Given the description of an element on the screen output the (x, y) to click on. 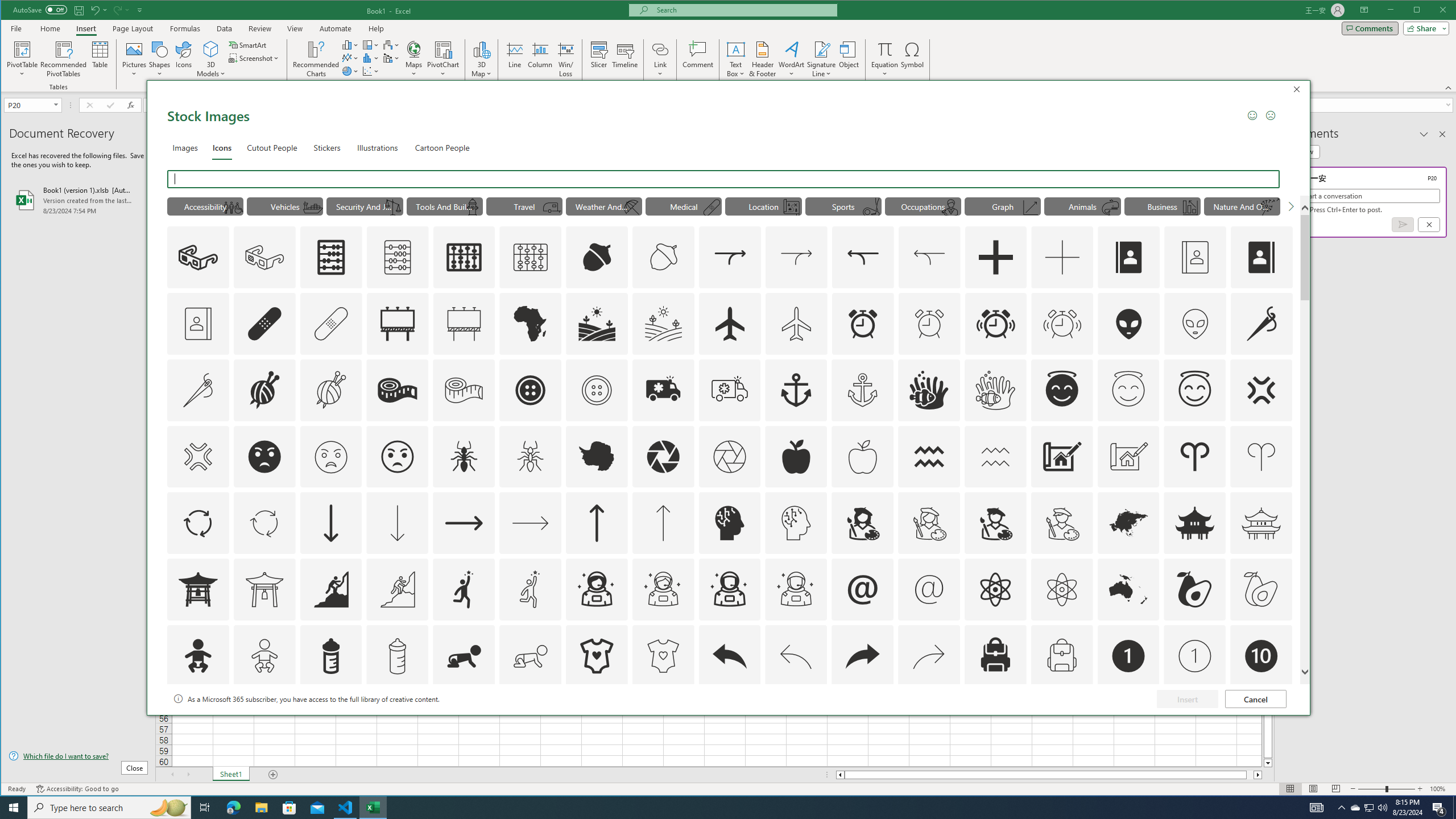
Column (540, 59)
AutomationID: Icons_Ant (464, 456)
Timeline (625, 59)
Equation (884, 48)
AutomationID: Icons_AngerSymbol (1260, 389)
"Nature And Outdoors" Icons. (1241, 206)
Thumbnail (1283, 699)
AutomationID: Icons_Asia (1128, 522)
AutomationID: Icons_ArrowRight_M (530, 522)
AutomationID: Icons_Badge7 (928, 721)
AutomationID: Icons_Badge9_M (1260, 721)
AutomationID: Icons_Elliptical_M (870, 207)
